Given the description of an element on the screen output the (x, y) to click on. 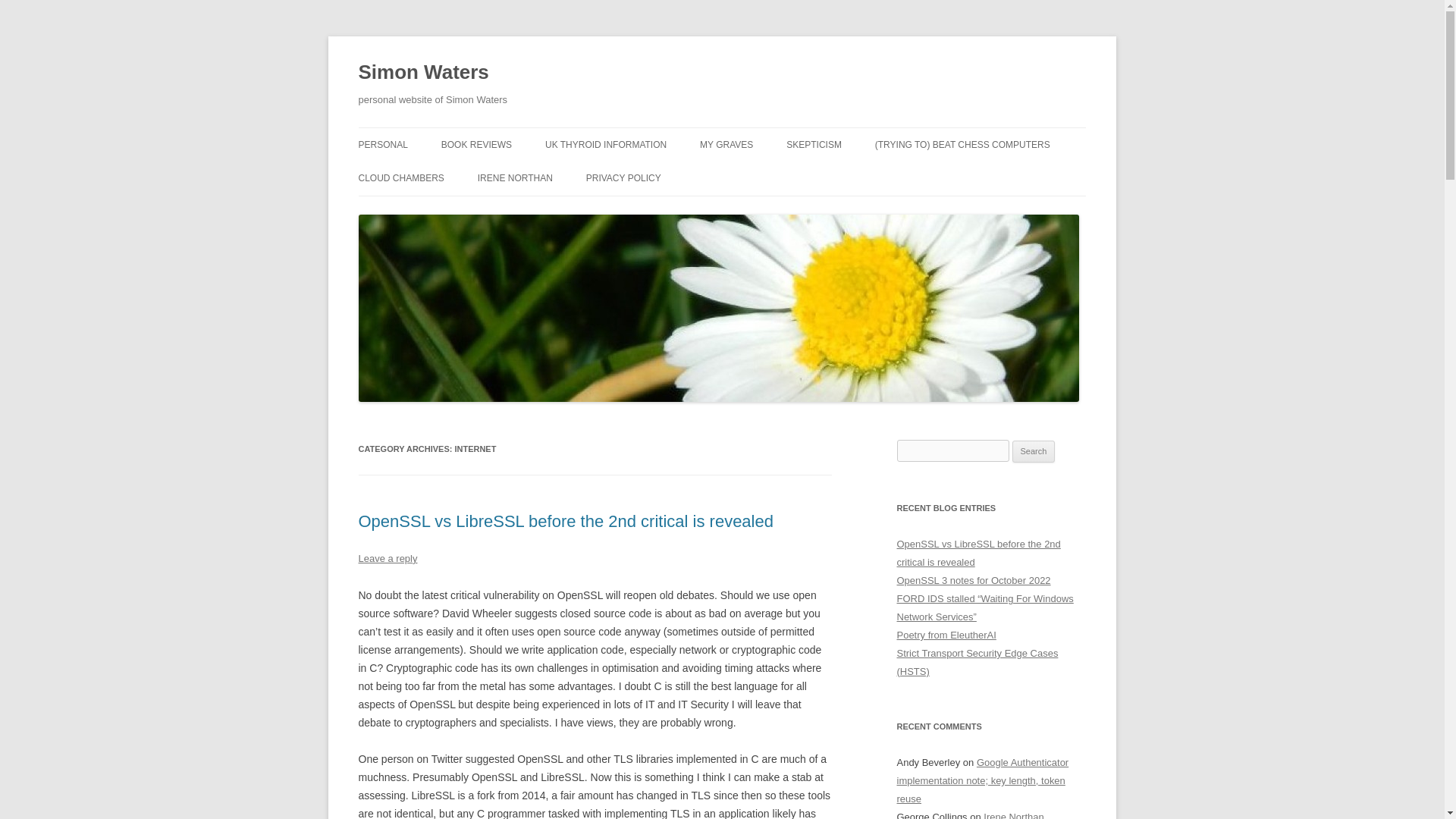
Simon Waters (422, 72)
PRIVACY POLICY (623, 177)
Search (1033, 451)
Irene Northan (1013, 815)
Poetry from EleutherAI (945, 634)
SKEPTICISM (813, 144)
PERSONAL (382, 144)
Search (1033, 451)
CLOUD CHAMBERS (401, 177)
Leave a reply (387, 558)
IRENE NORTHAN (515, 177)
OpenSSL 3 notes for October 2022 (972, 580)
BOOK REVIEWS (476, 144)
OpenSSL vs LibreSSL before the 2nd critical is revealed (565, 520)
